Given the description of an element on the screen output the (x, y) to click on. 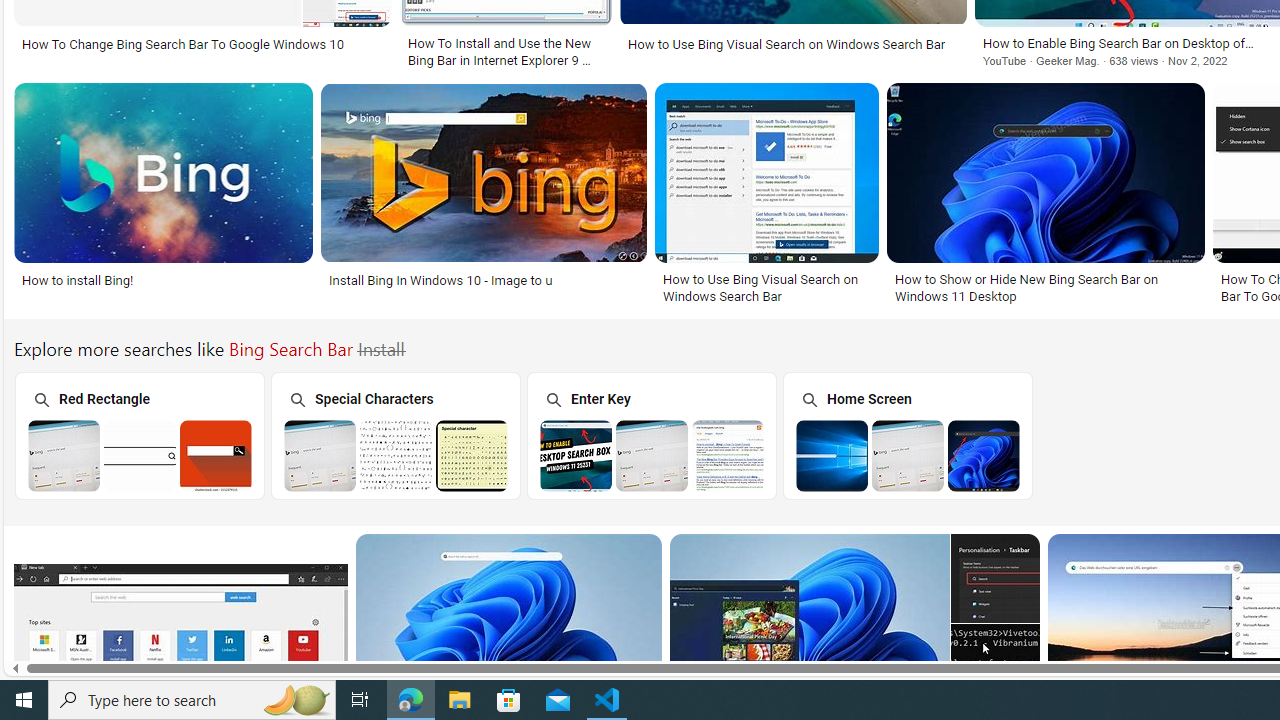
Red Rectangle Bing Search Bar (140, 455)
How to install Bing! (77, 279)
Home Screen (907, 435)
Install Bing In Windows 10 - Image to u (440, 279)
How to install Bing!Save (167, 196)
Red Rectangle (138, 435)
Enter Key (651, 435)
Install Bing In Windows 10 - Image to uSave (488, 196)
Bing Search Bar Special Characters (396, 455)
How to install Bing! (162, 279)
How to Use Bing Visual Search on Windows Search Bar (766, 287)
